Given the description of an element on the screen output the (x, y) to click on. 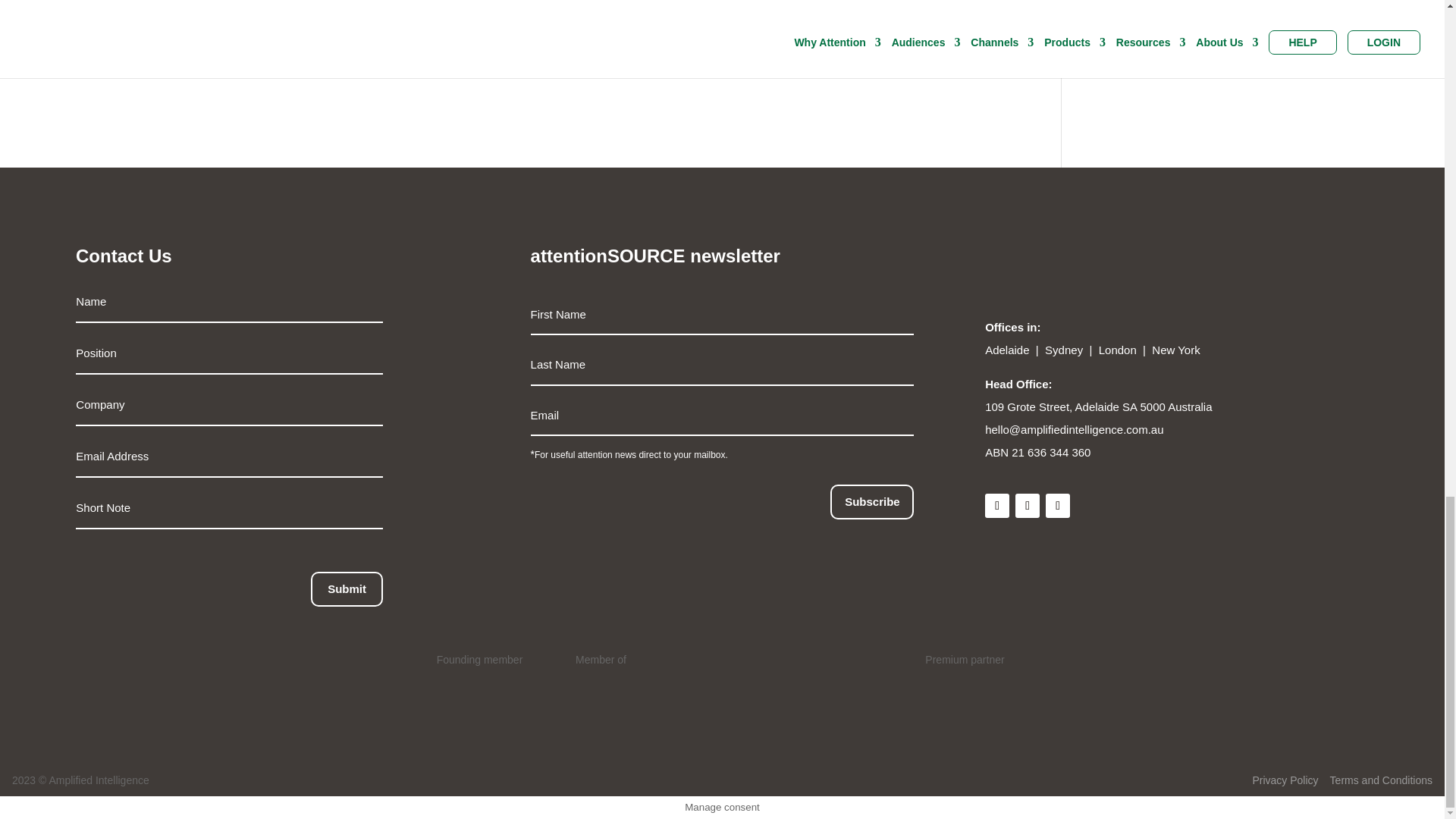
Follow on X (1026, 505)
Only letters allowed. (228, 353)
Follow on Youtube (1057, 505)
Maximum length: 240 characters. (228, 508)
Follow on LinkedIn (997, 505)
